Given the description of an element on the screen output the (x, y) to click on. 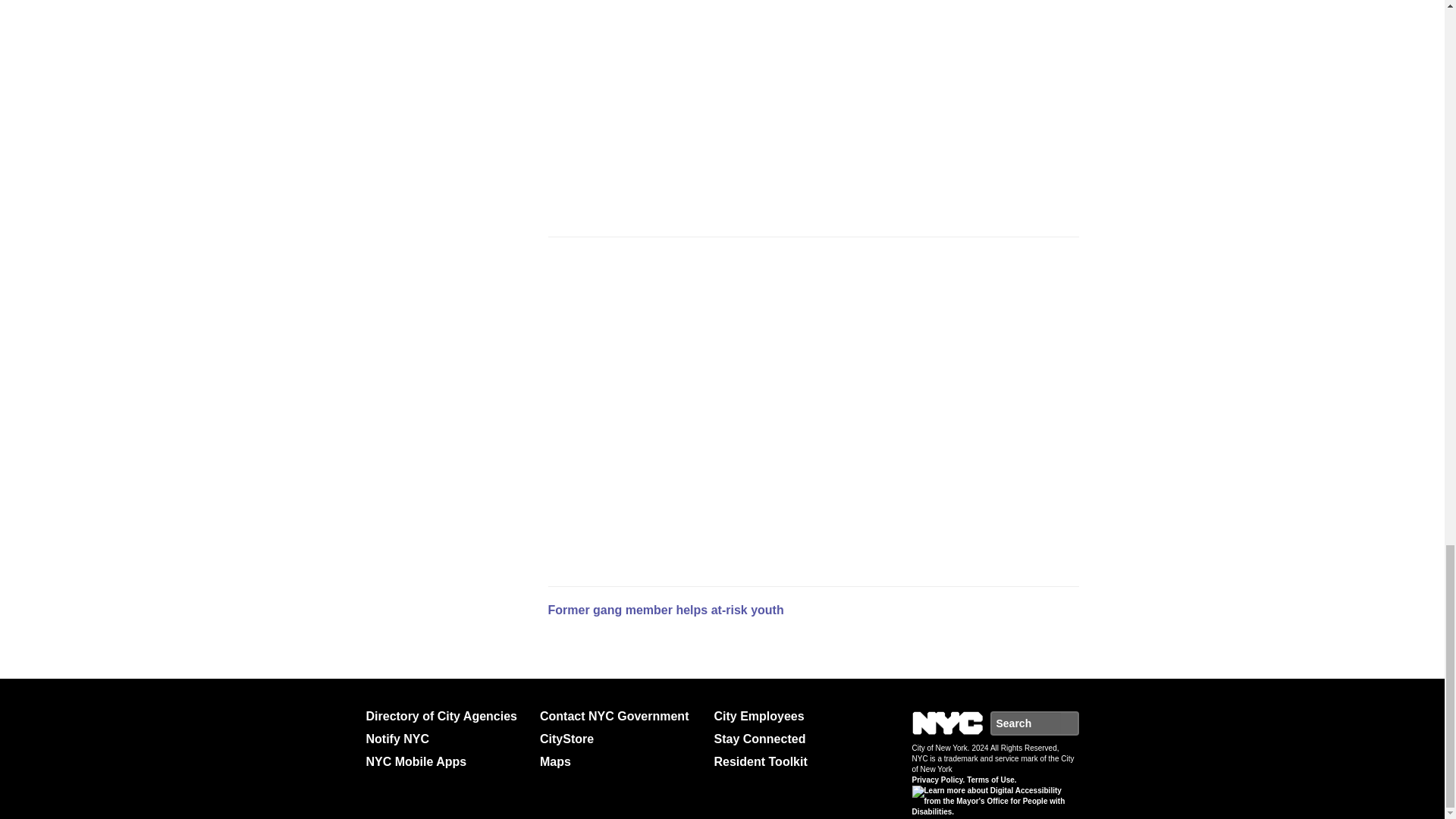
Contact NYC Government (620, 716)
Directory of City Agencies (446, 716)
Former gang member helps at-risk youth (665, 609)
Terms of Use (991, 779)
City Employees (795, 716)
CityStore (620, 739)
Notify NYC (446, 739)
Privacy Ploicy  (937, 779)
